Given the description of an element on the screen output the (x, y) to click on. 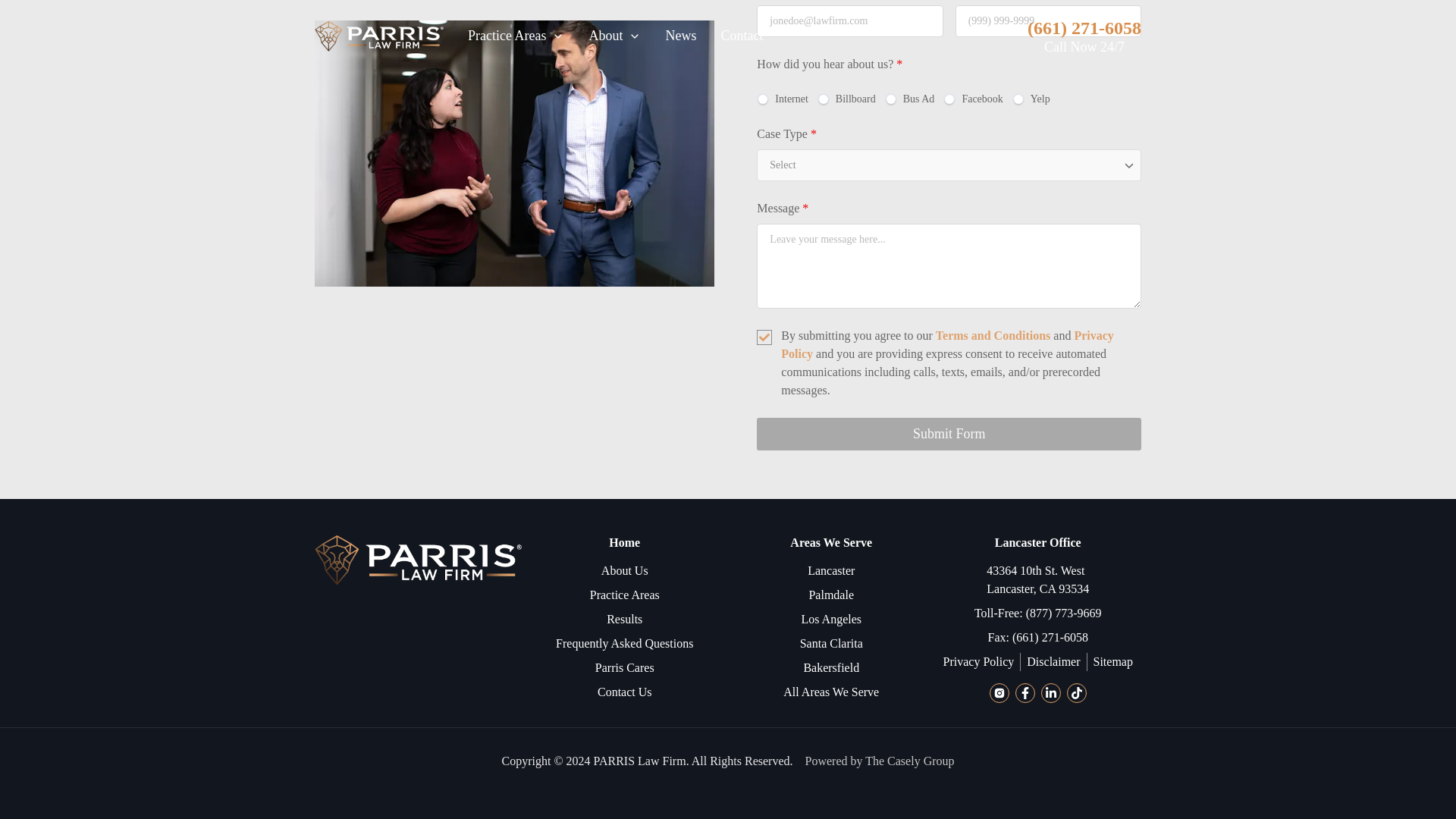
Privacy Policy (946, 344)
All Areas We Serve (831, 692)
Practice Areas (624, 595)
Santa Clarita (831, 643)
Contact Us (624, 692)
Parris Cares (624, 668)
Palmdale (830, 595)
Lancaster (831, 570)
Terms and Conditions (992, 335)
About Us (624, 570)
Results (624, 619)
Bakersfield (831, 668)
Submit Form (949, 433)
Frequently Asked Questions (624, 643)
Los Angeles (830, 619)
